Given the description of an element on the screen output the (x, y) to click on. 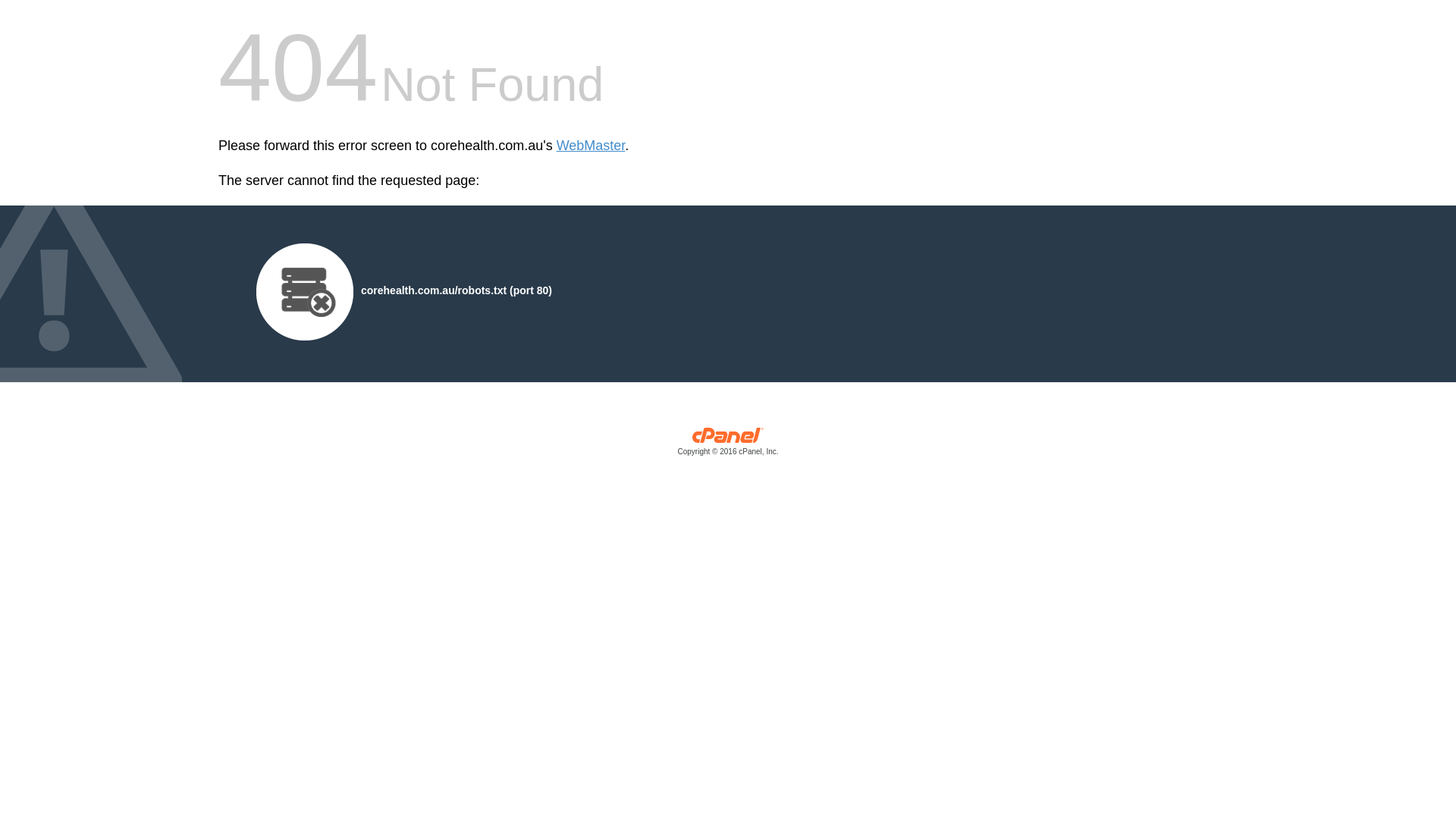
WebMaster Element type: text (590, 145)
